Given the description of an element on the screen output the (x, y) to click on. 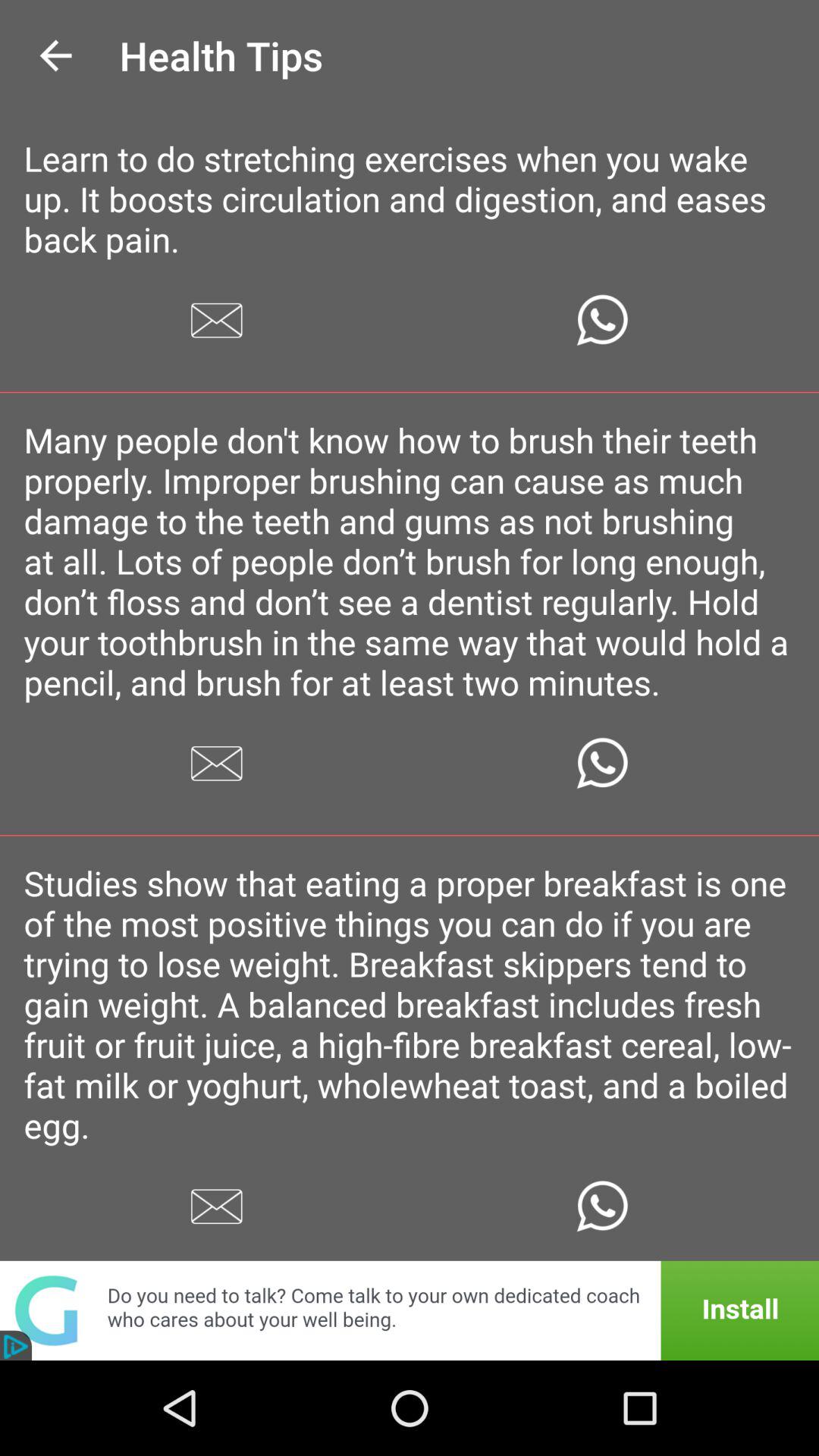
choose the item above learn to do (55, 55)
